Given the description of an element on the screen output the (x, y) to click on. 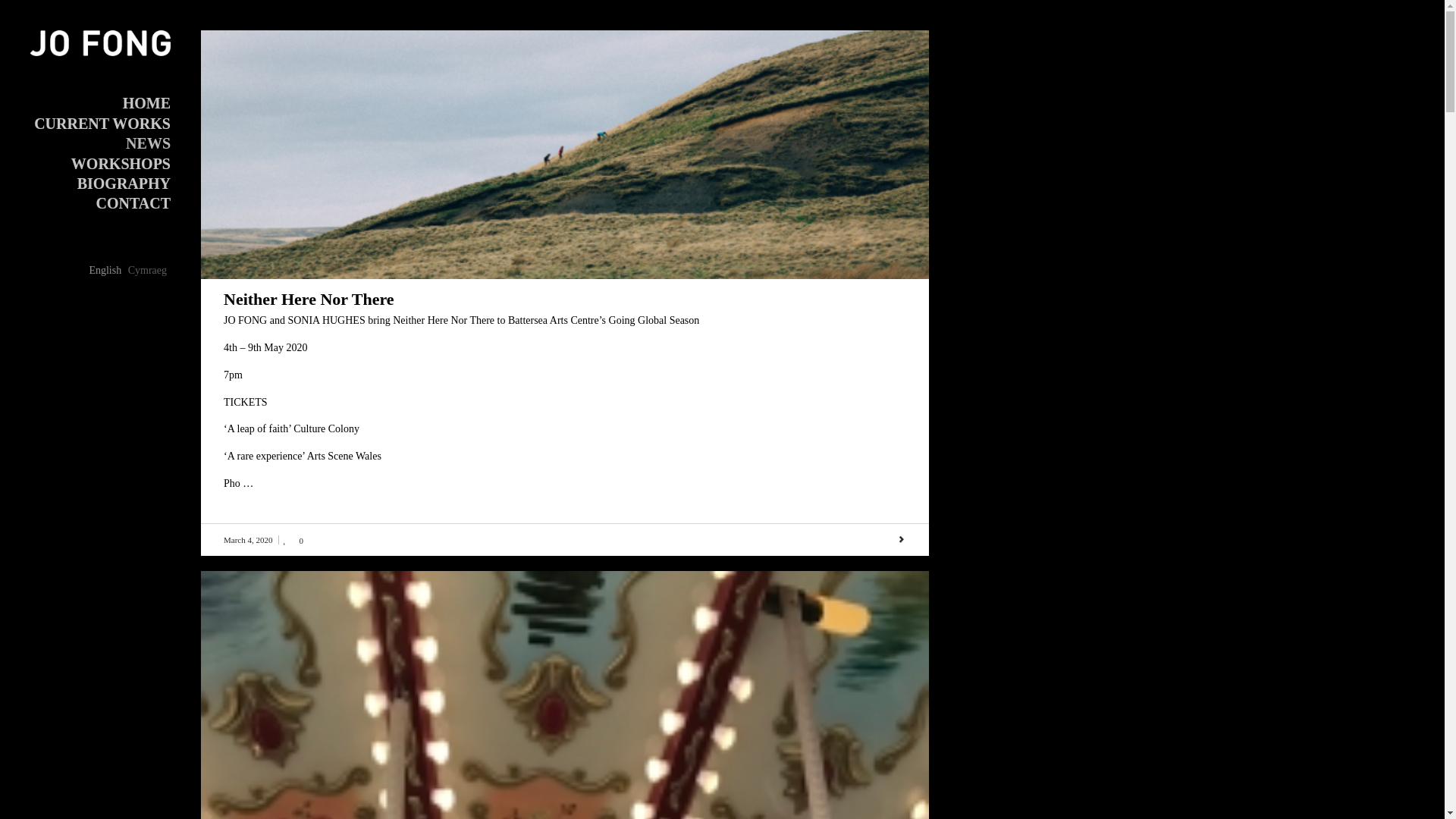
CURRENT WORKS (101, 123)
BIOGRAPHY (123, 182)
WORKSHOPS (120, 163)
0 (292, 539)
NEWS (147, 142)
CONTACT (133, 202)
Neither Here Nor There (309, 298)
HOME (146, 102)
Cymraeg (147, 270)
English (104, 270)
